Given the description of an element on the screen output the (x, y) to click on. 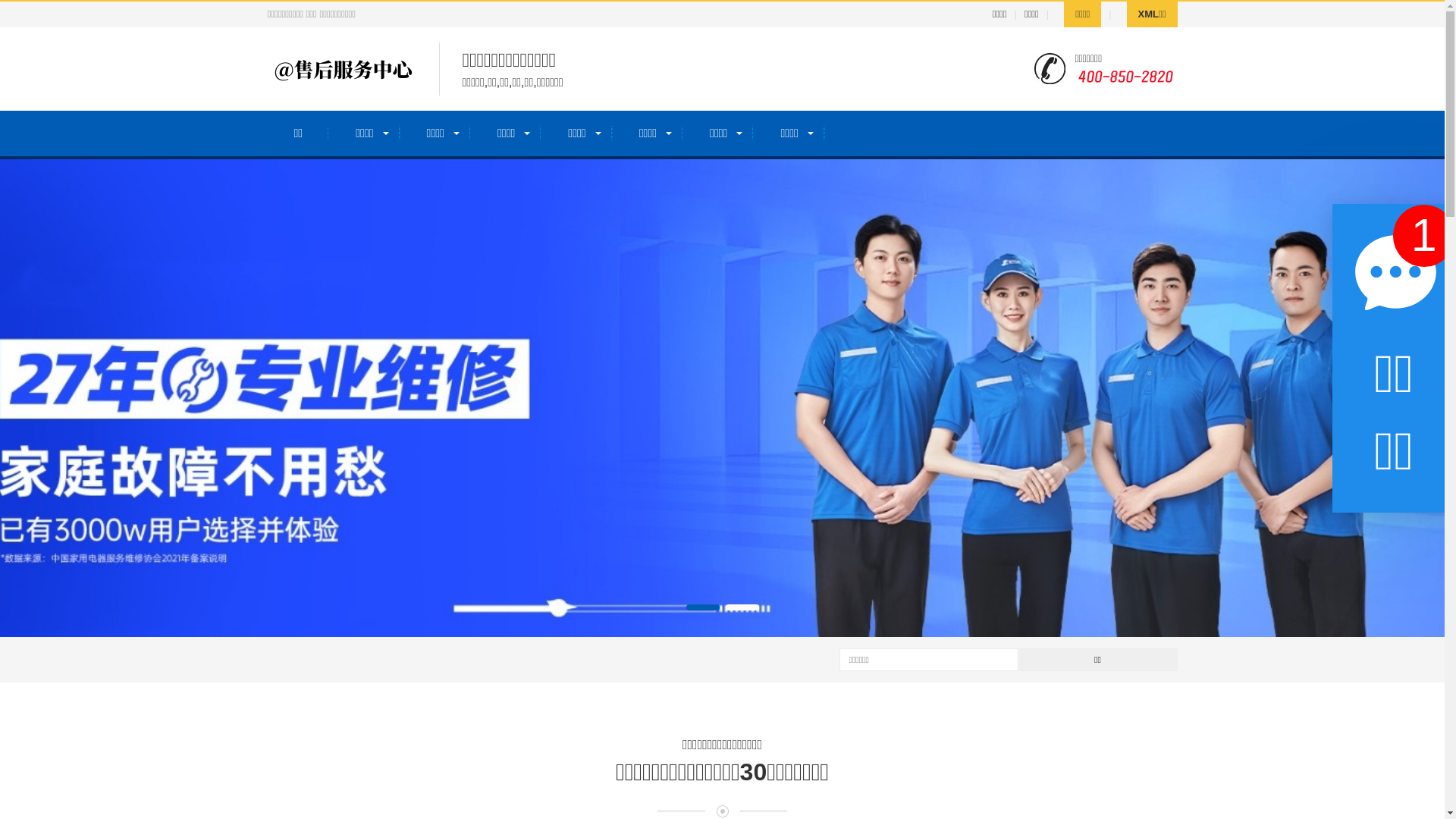
1 Element type: text (1424, 235)
